Given the description of an element on the screen output the (x, y) to click on. 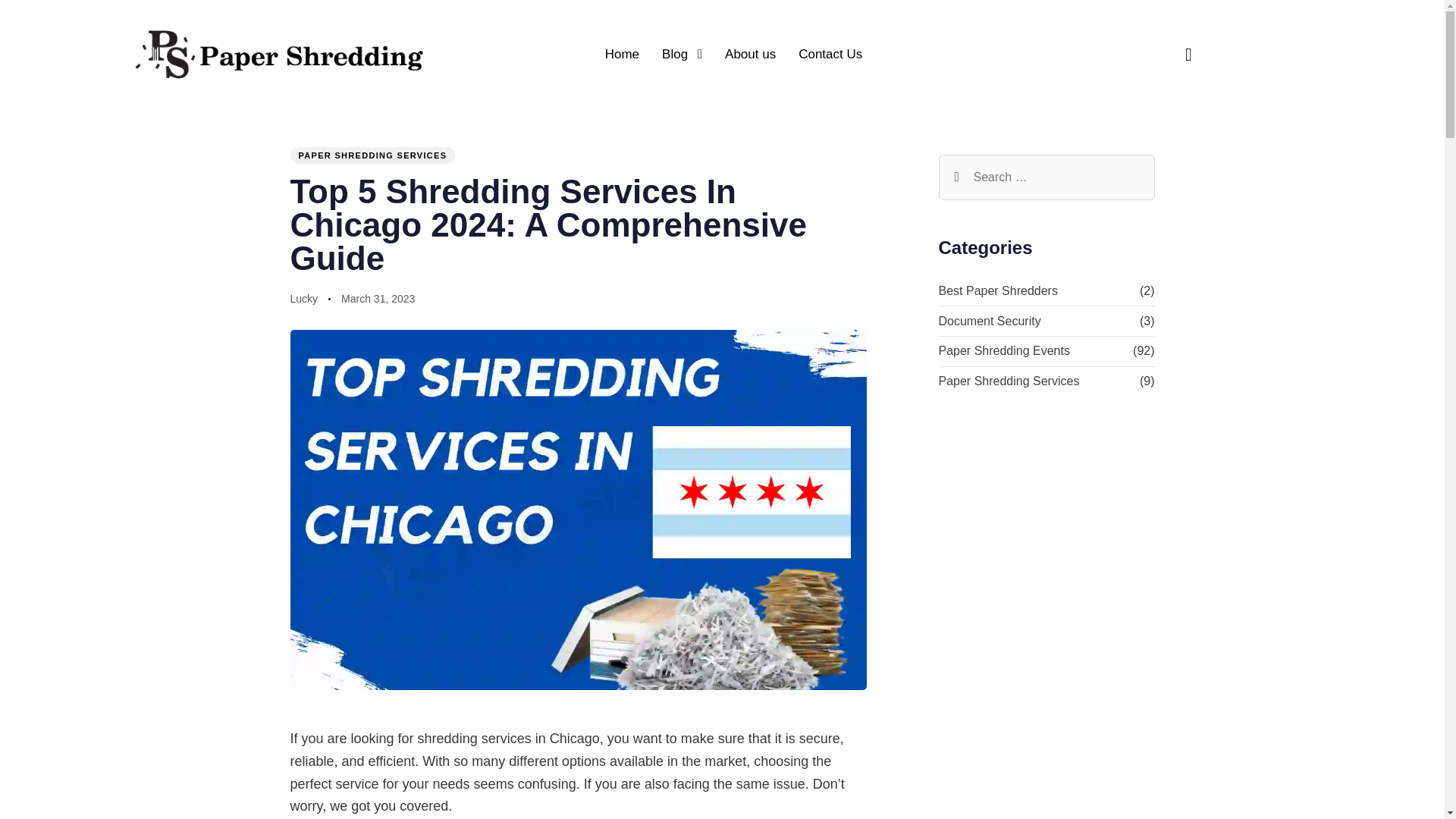
Contact Us (830, 54)
Blog (681, 54)
March 31, 2023 (377, 299)
About us (750, 54)
Posts by Lucky (303, 298)
PAPER SHREDDING SERVICES (371, 155)
Home (622, 54)
Lucky (303, 298)
